Given the description of an element on the screen output the (x, y) to click on. 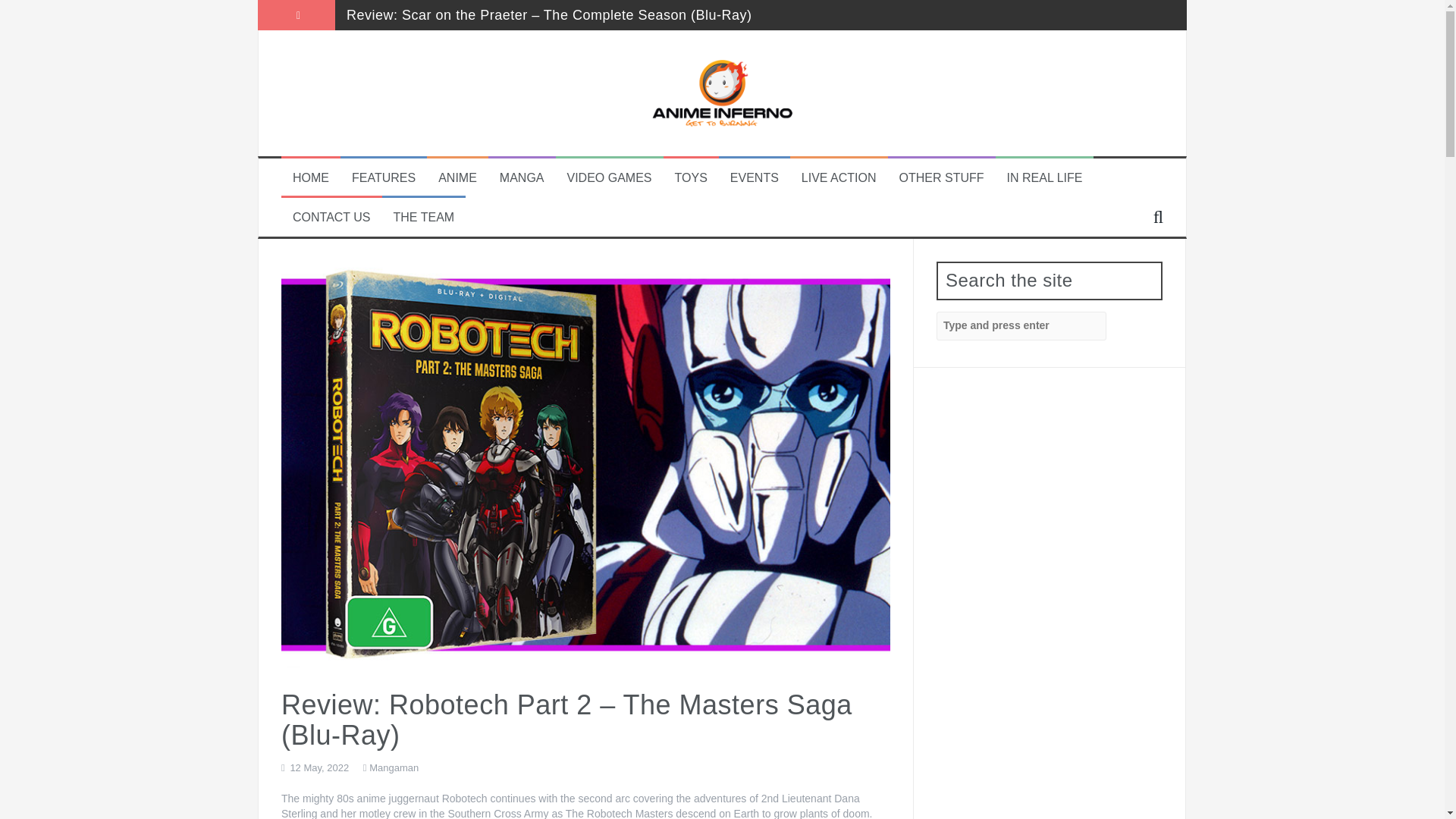
Anime Inferno (721, 92)
OTHER STUFF (941, 178)
THE TEAM (423, 217)
Mangaman (394, 767)
12 May, 2022 (319, 767)
TOYS (691, 178)
ANIME (457, 178)
HOME (310, 178)
Search for: (1021, 326)
FEATURES (383, 178)
